Given the description of an element on the screen output the (x, y) to click on. 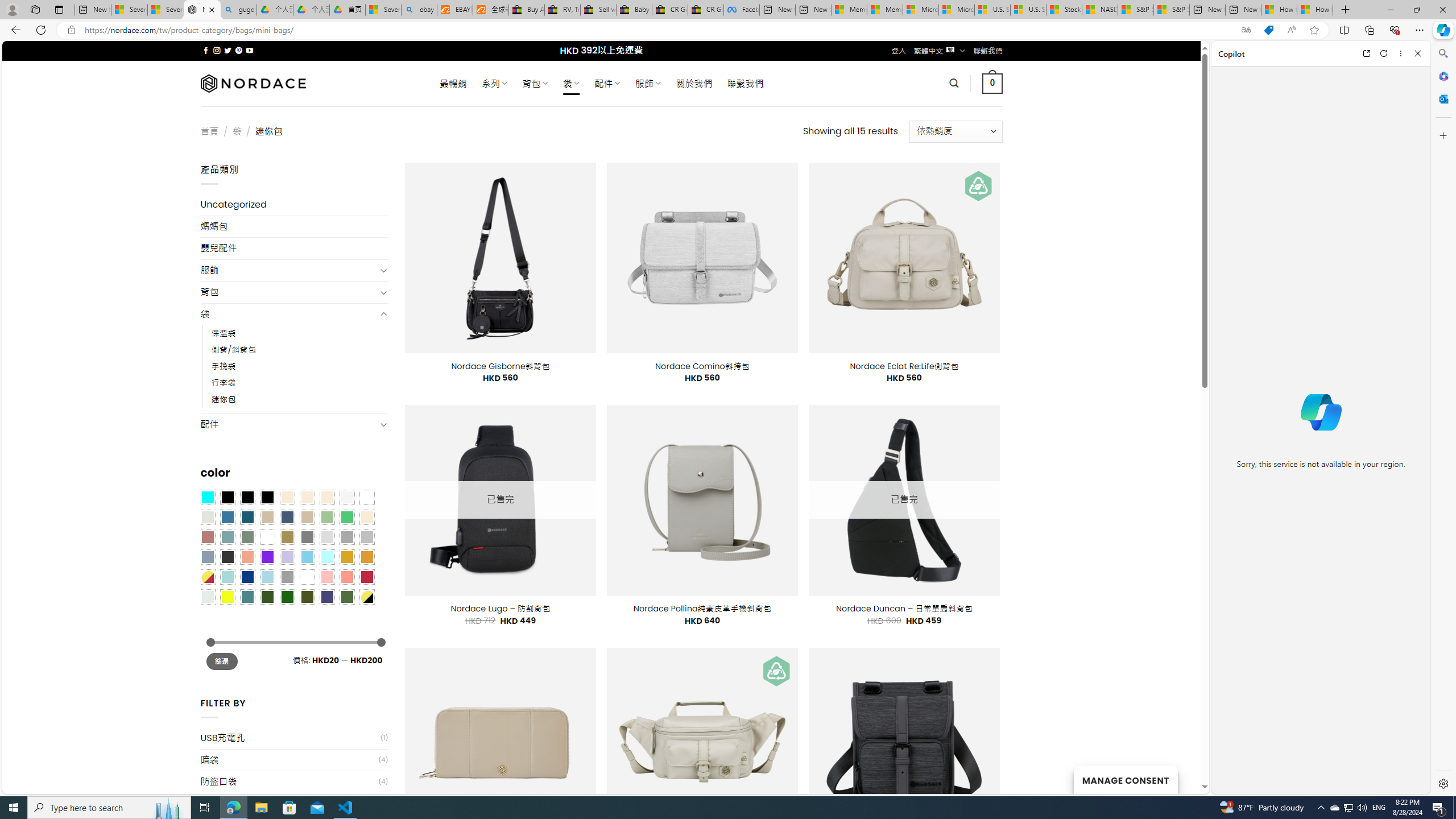
Outlook (1442, 98)
Back (13, 29)
Follow on Twitter (227, 50)
Collections (1369, 29)
